Given the description of an element on the screen output the (x, y) to click on. 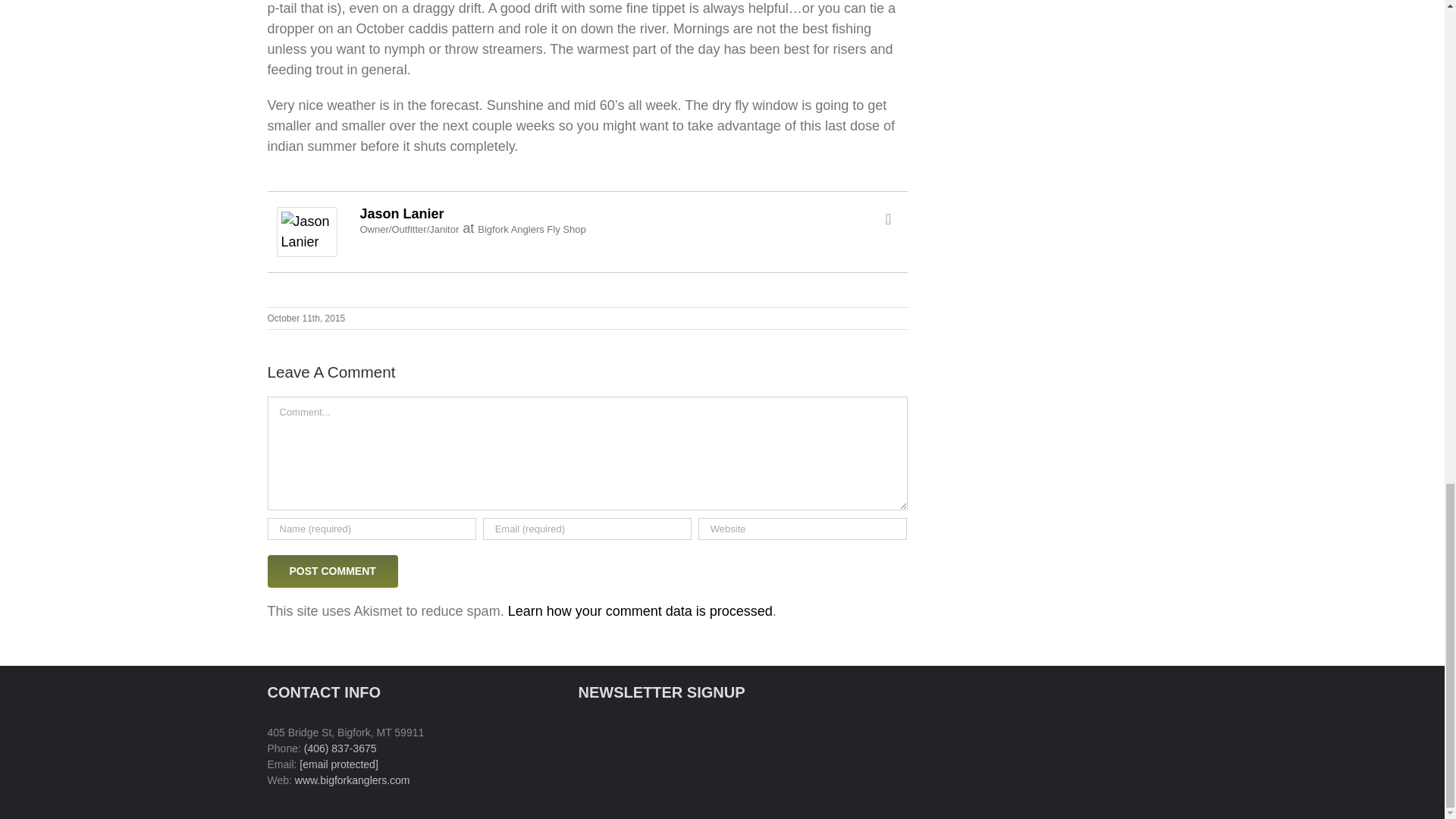
Facebook (888, 218)
Post Comment (331, 571)
Jason Lanier (306, 216)
